Given the description of an element on the screen output the (x, y) to click on. 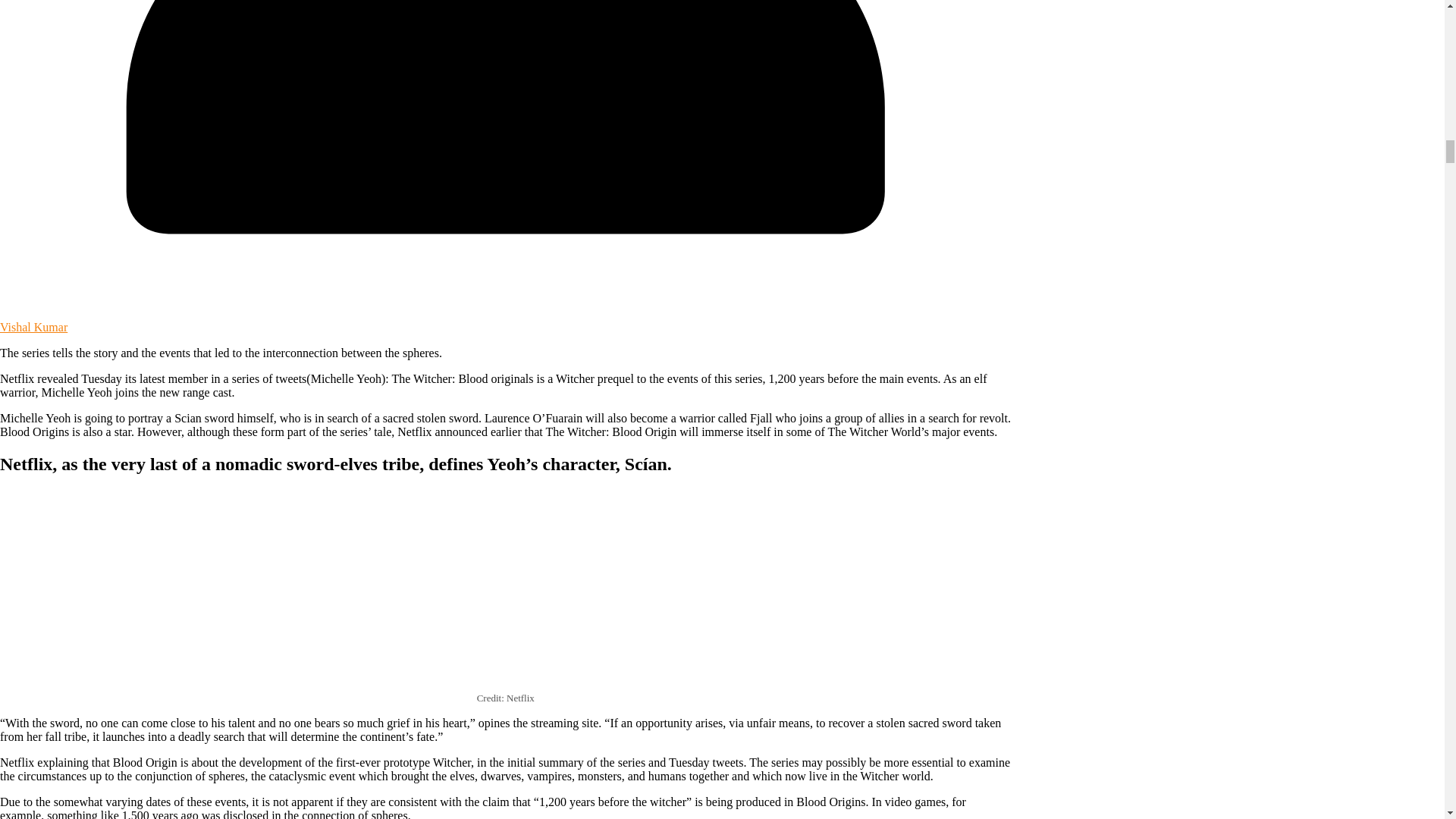
Vishal Kumar (33, 327)
Vishal Kumar (33, 327)
The Witcher Blood Origin adds Michelle Yeoh to its cast 2 (207, 589)
